Given the description of an element on the screen output the (x, y) to click on. 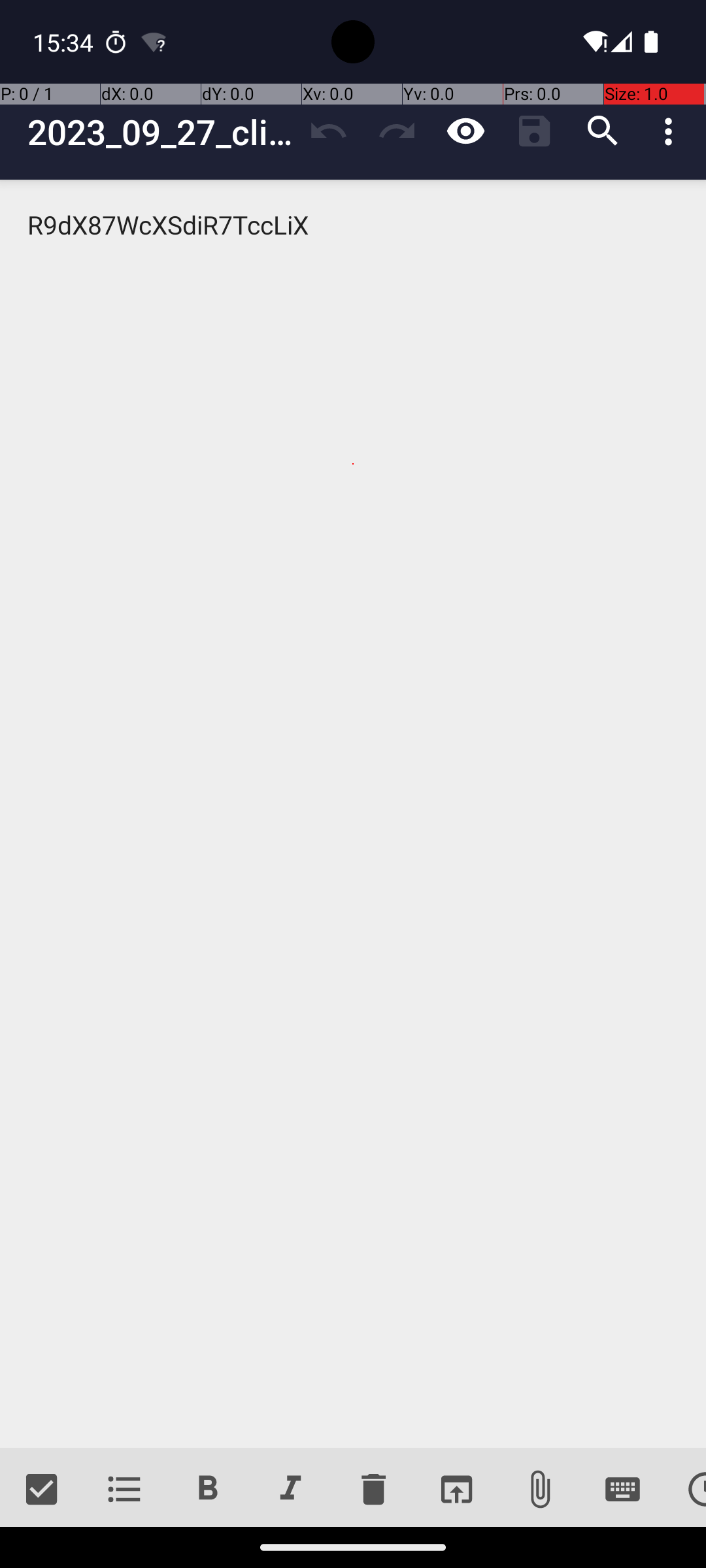
2023_09_27_client_meetings_schedule Element type: android.widget.TextView (160, 131)
Undo Element type: android.widget.TextView (328, 131)
Redo Element type: android.widget.TextView (396, 131)
View mode Element type: android.widget.TextView (465, 131)
R9dX87WcXSdiR7TccLiX
 Element type: android.widget.EditText (353, 813)
Check list Element type: android.widget.ImageView (41, 1488)
Unordered list Element type: android.widget.ImageView (124, 1488)
Bold Element type: android.widget.ImageView (207, 1488)
Italic Element type: android.widget.ImageView (290, 1488)
Delete lines Element type: android.widget.ImageView (373, 1488)
Open link Element type: android.widget.ImageView (456, 1488)
Attach Element type: android.widget.ImageView (539, 1488)
Special Key Element type: android.widget.ImageView (622, 1488)
Date and time Element type: android.widget.ImageView (685, 1488)
Android System notification: AndroidWifi has limited connectivity Element type: android.widget.ImageView (153, 41)
Wifi signal full.,No internet Element type: android.widget.FrameLayout (593, 41)
